Given the description of an element on the screen output the (x, y) to click on. 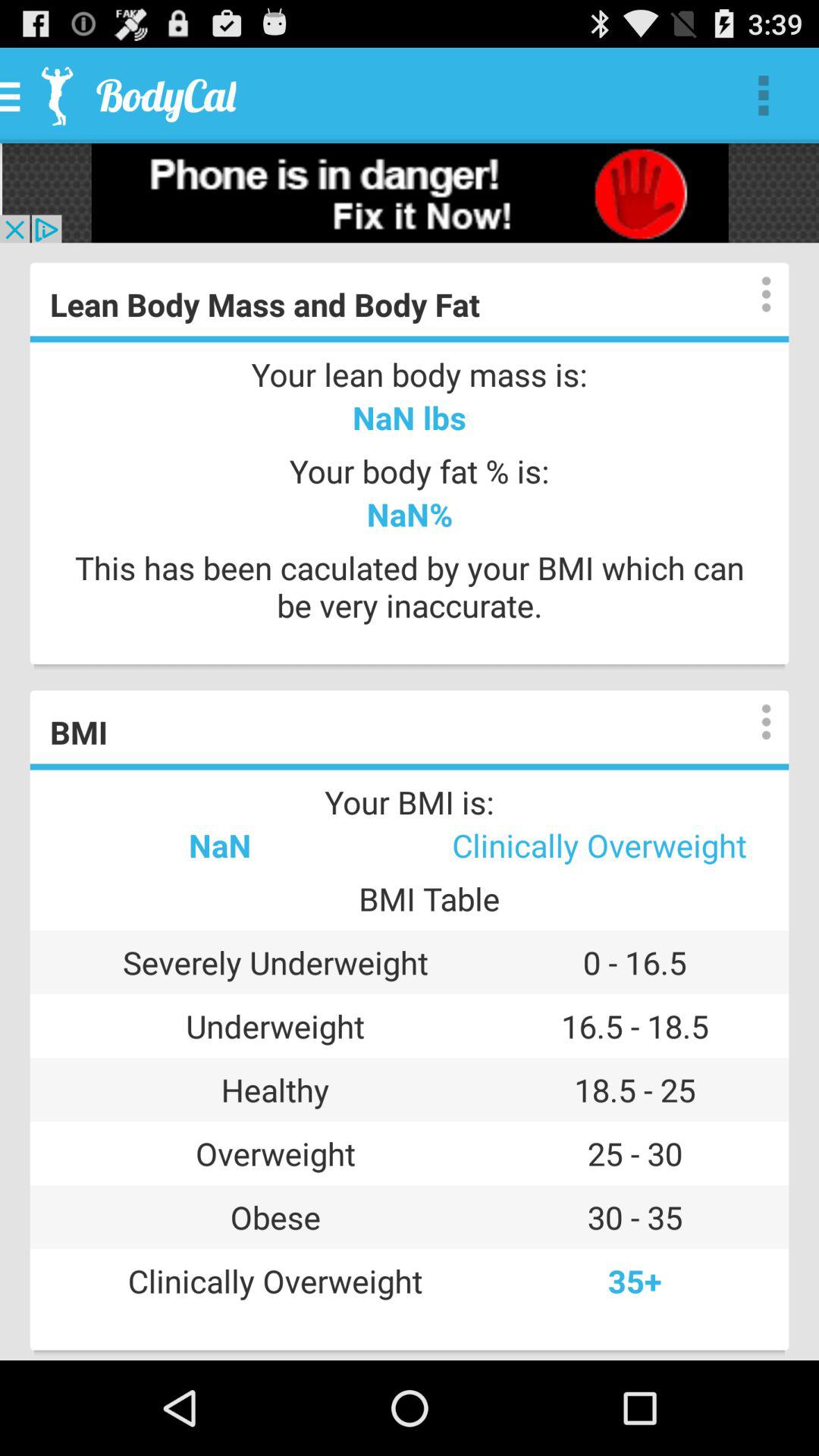
overflow action button (750, 722)
